Given the description of an element on the screen output the (x, y) to click on. 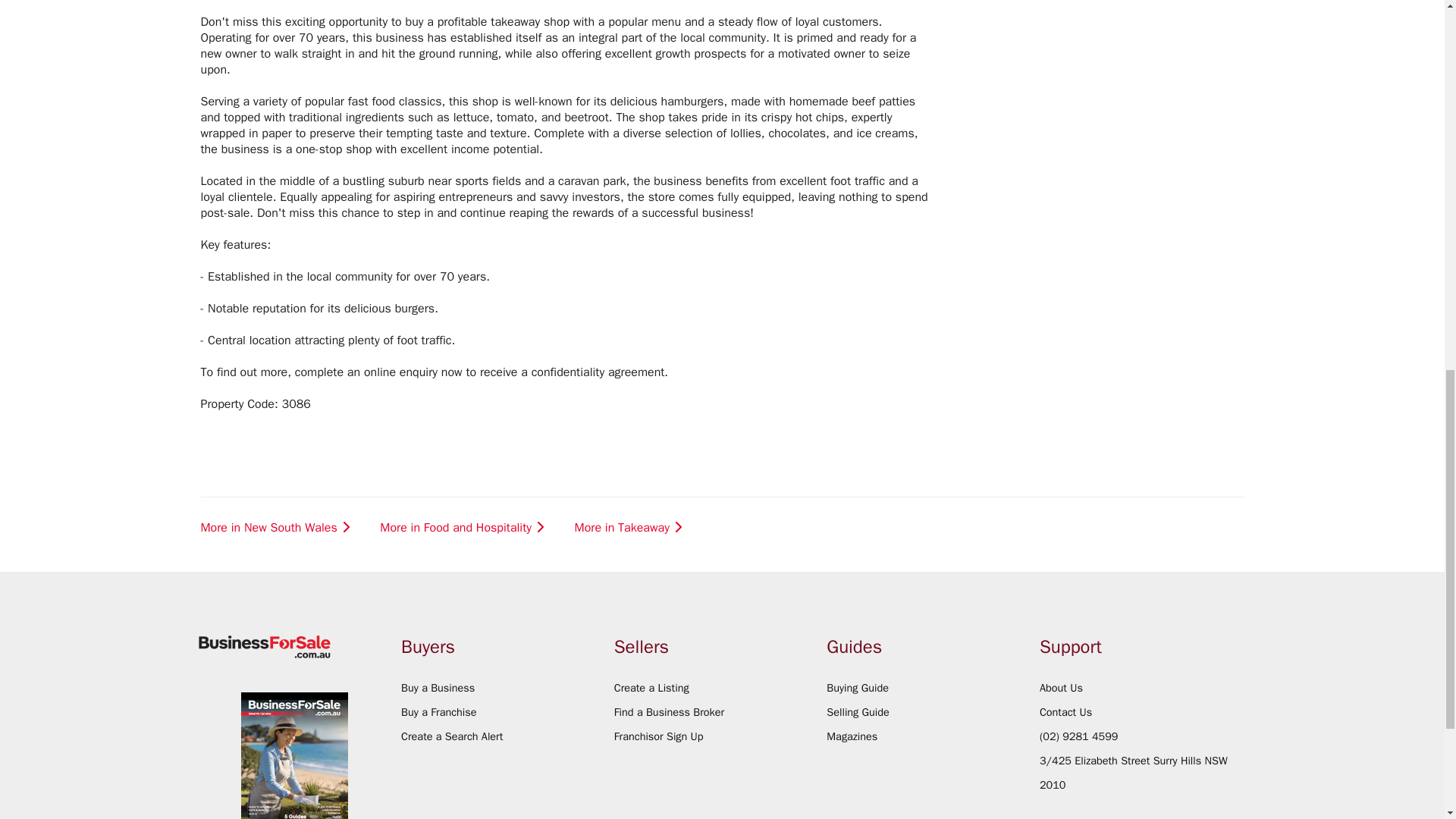
More in Food and Hospitality (463, 528)
More in New South Wales (276, 528)
More in Takeaway (630, 528)
